Given the description of an element on the screen output the (x, y) to click on. 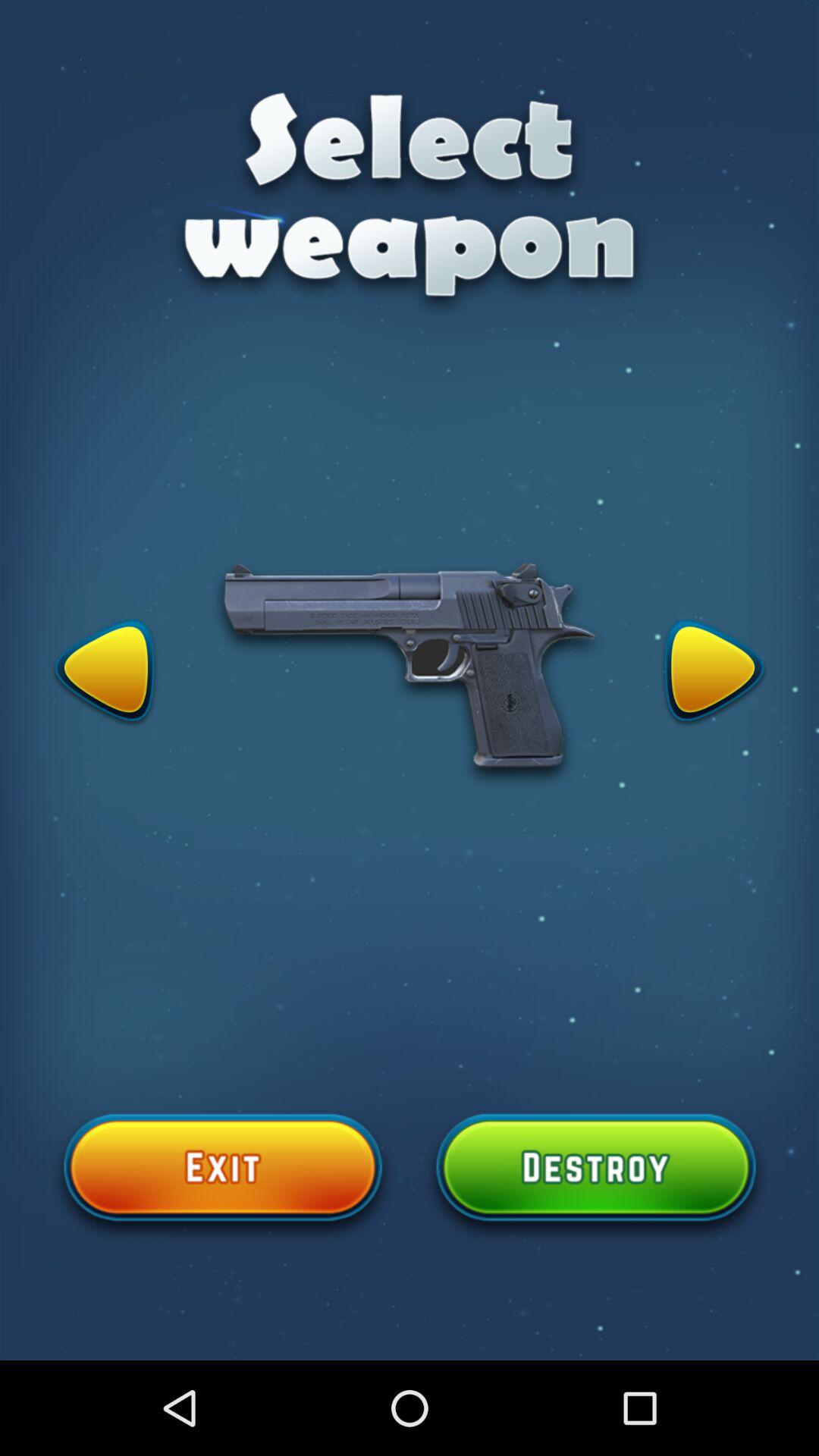
choose weapon (595, 1176)
